Given the description of an element on the screen output the (x, y) to click on. 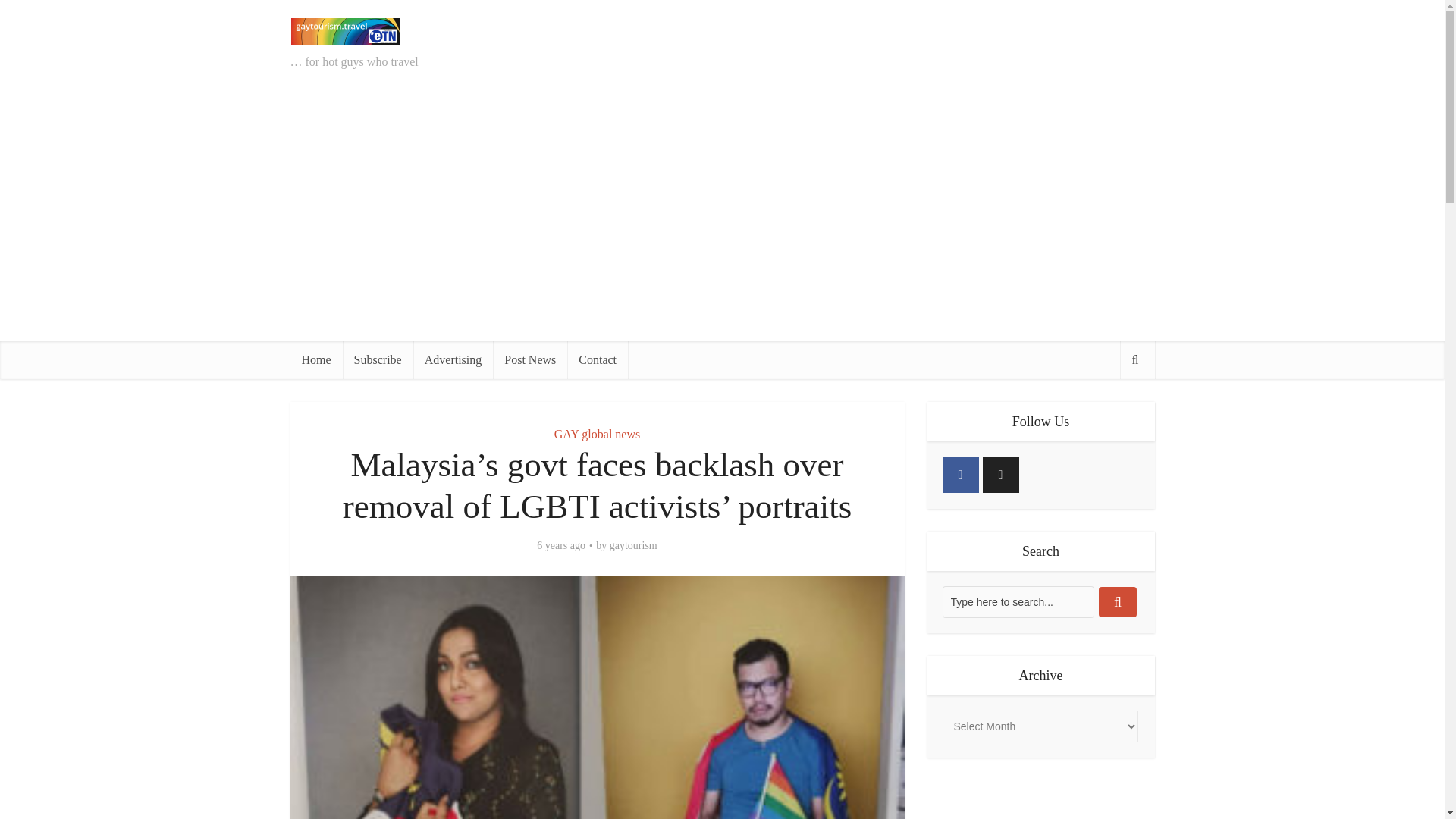
GAY global news (597, 433)
Facebook (960, 474)
Type here to search... (1017, 602)
Type here to search... (1017, 602)
Home (315, 360)
Contact (597, 360)
Post News (530, 360)
Advertising (453, 360)
Subscribe (377, 360)
gaytourism (634, 545)
